Given the description of an element on the screen output the (x, y) to click on. 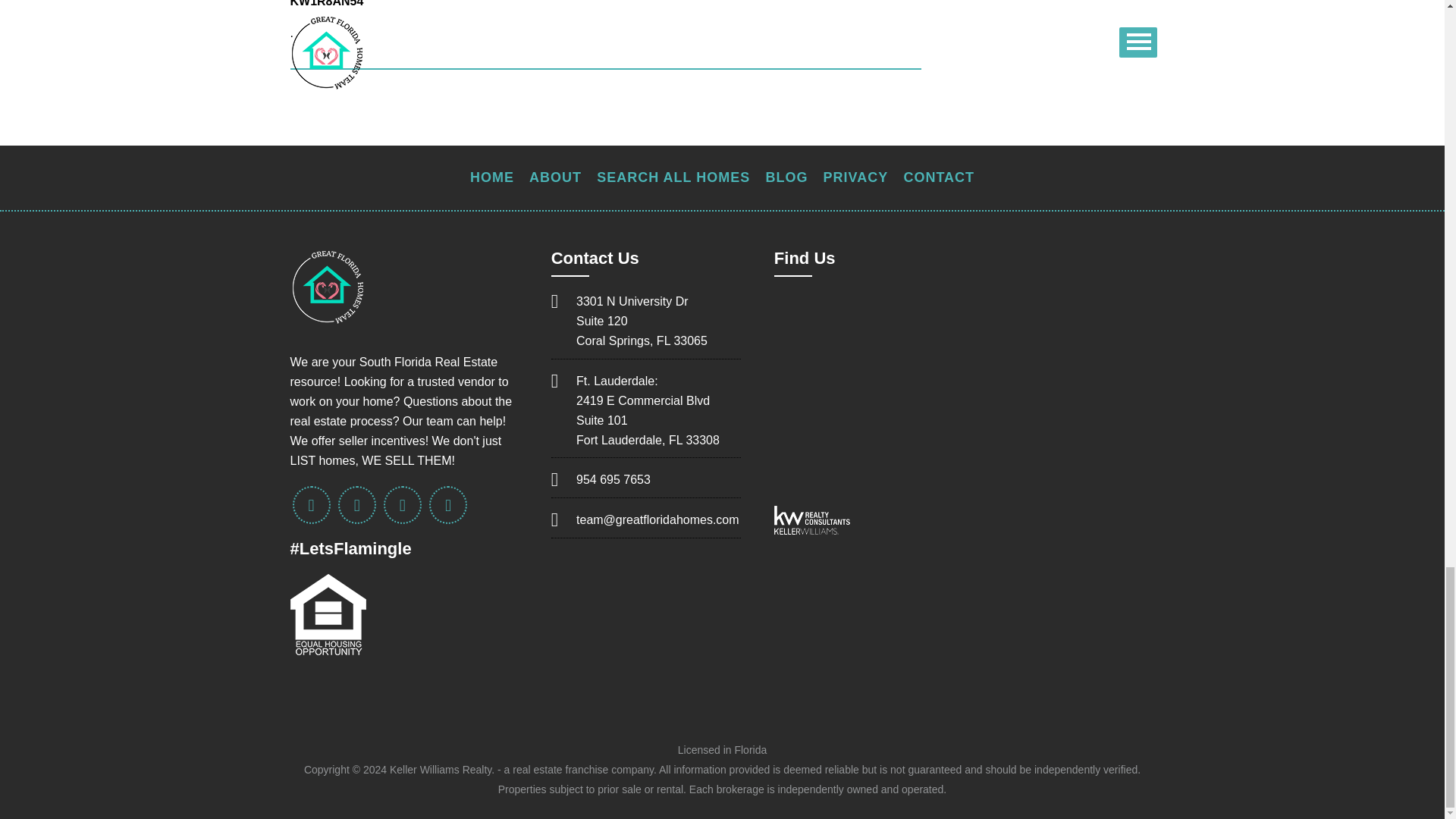
HOME (491, 177)
